Given the description of an element on the screen output the (x, y) to click on. 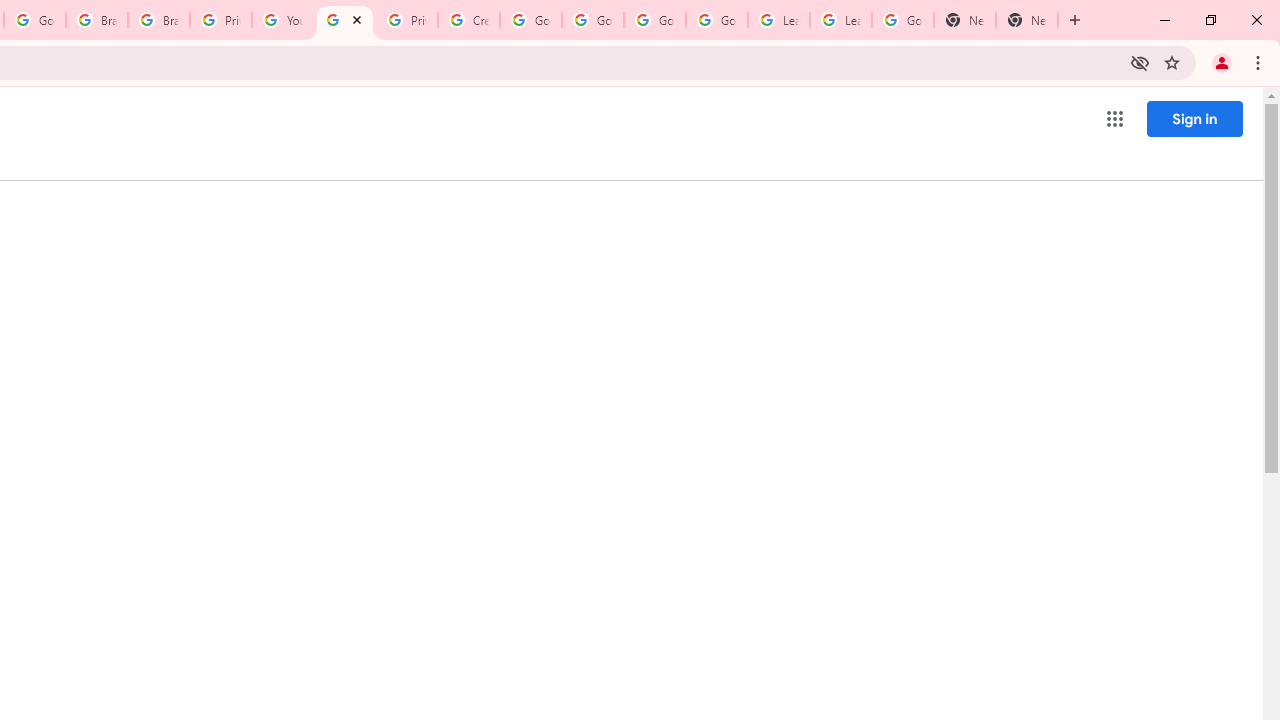
YouTube (282, 20)
Google Account Help (716, 20)
Sign in (1194, 118)
New Tab (1026, 20)
New Tab (964, 20)
